Given the description of an element on the screen output the (x, y) to click on. 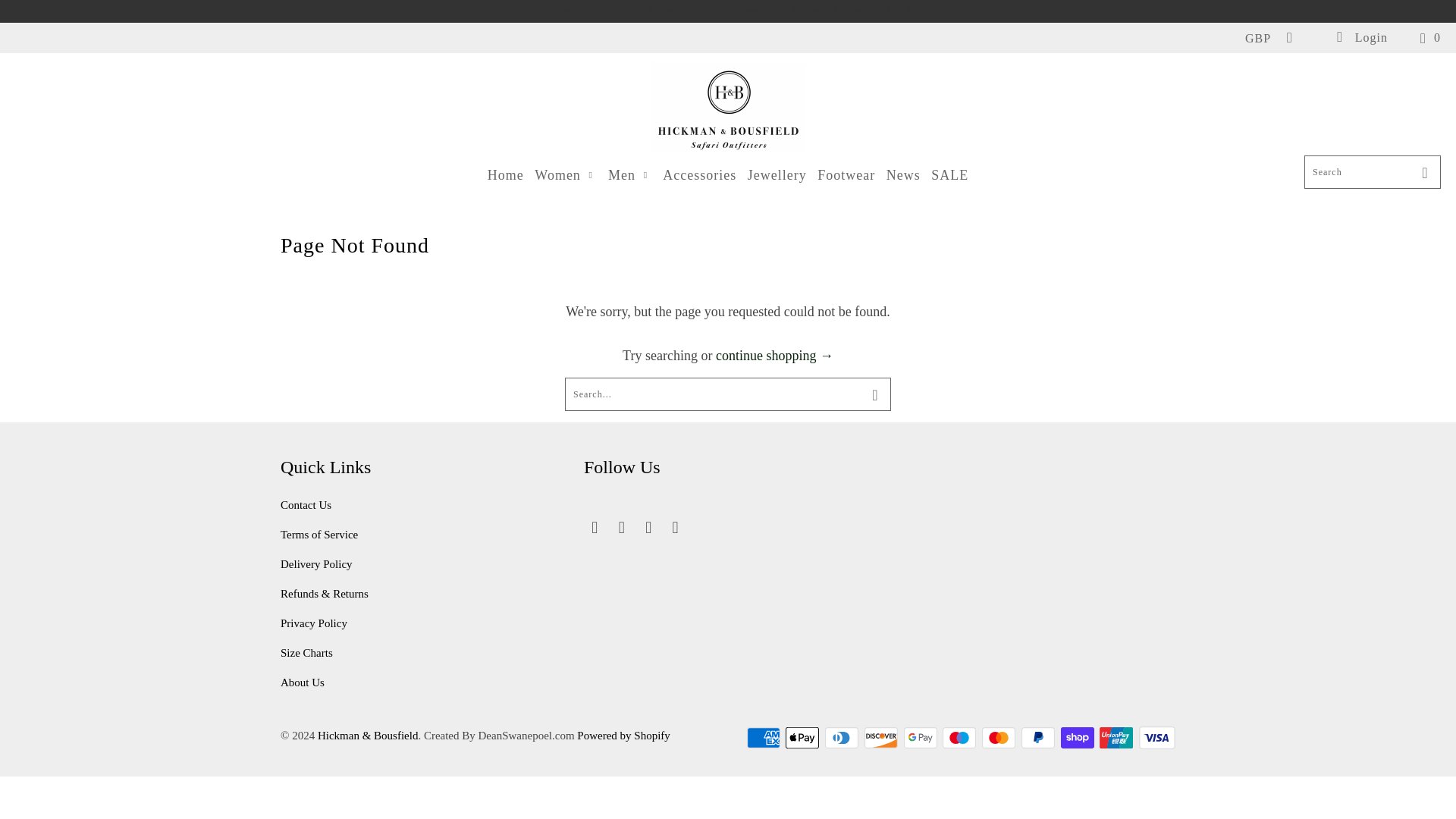
Google Pay (922, 737)
Union Pay (1117, 737)
Apple Pay (804, 737)
My Account  (1360, 37)
PayPal (1040, 737)
Discover (882, 737)
Diners Club (843, 737)
American Express (764, 737)
Visa (1156, 737)
Maestro (960, 737)
